Given the description of an element on the screen output the (x, y) to click on. 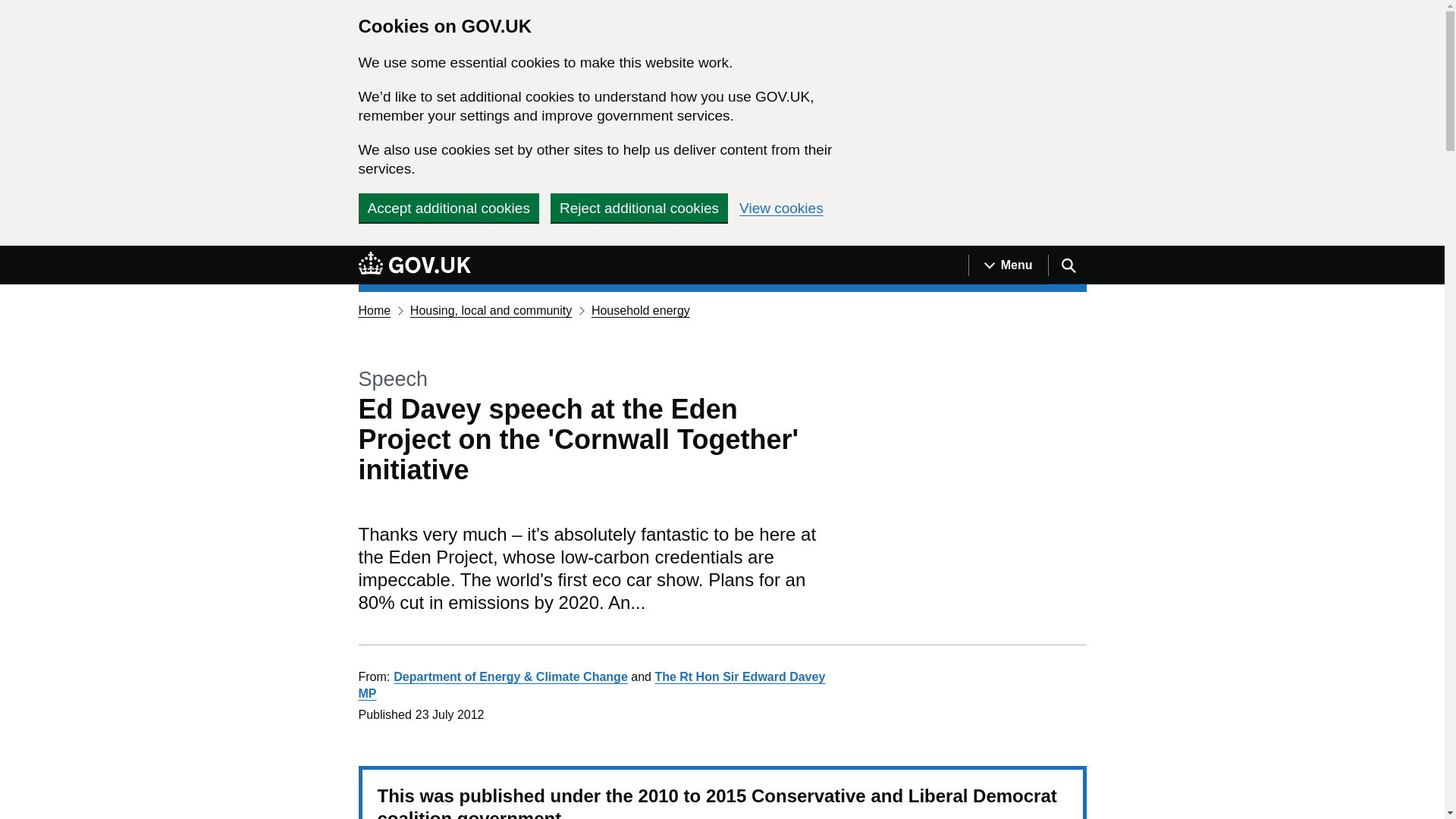
Skip to main content (11, 254)
Menu (1008, 265)
Reject additional cookies (639, 207)
Household energy (640, 309)
The Rt Hon Sir Edward Davey MP (591, 685)
Search GOV.UK (1067, 265)
View cookies (781, 207)
Home (374, 309)
GOV.UK (414, 262)
Accept additional cookies (448, 207)
